Given the description of an element on the screen output the (x, y) to click on. 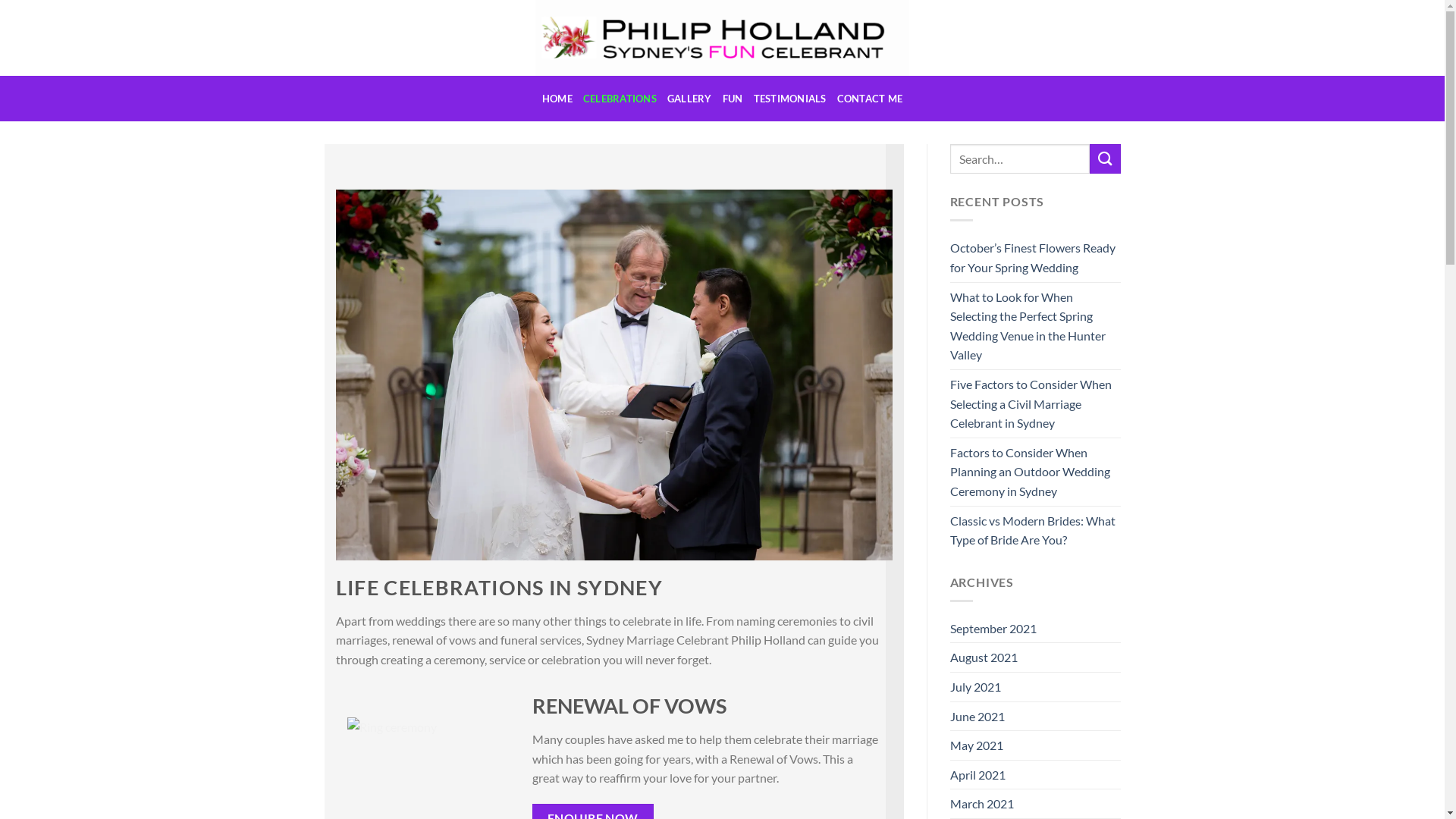
July 2021 Element type: text (974, 686)
June 2021 Element type: text (976, 716)
May 2021 Element type: text (975, 745)
Classic vs Modern Brides: What Type of Bride Are You? Element type: text (1034, 530)
September 2021 Element type: text (992, 628)
March 2021 Element type: text (981, 803)
FUN Element type: text (732, 98)
CONTACT ME Element type: text (870, 98)
HOME Element type: text (557, 98)
April 2021 Element type: text (976, 774)
CELEBRATIONS Element type: text (619, 98)
TESTIMONIALS Element type: text (789, 98)
GALLERY Element type: text (689, 98)
August 2021 Element type: text (982, 657)
